Given the description of an element on the screen output the (x, y) to click on. 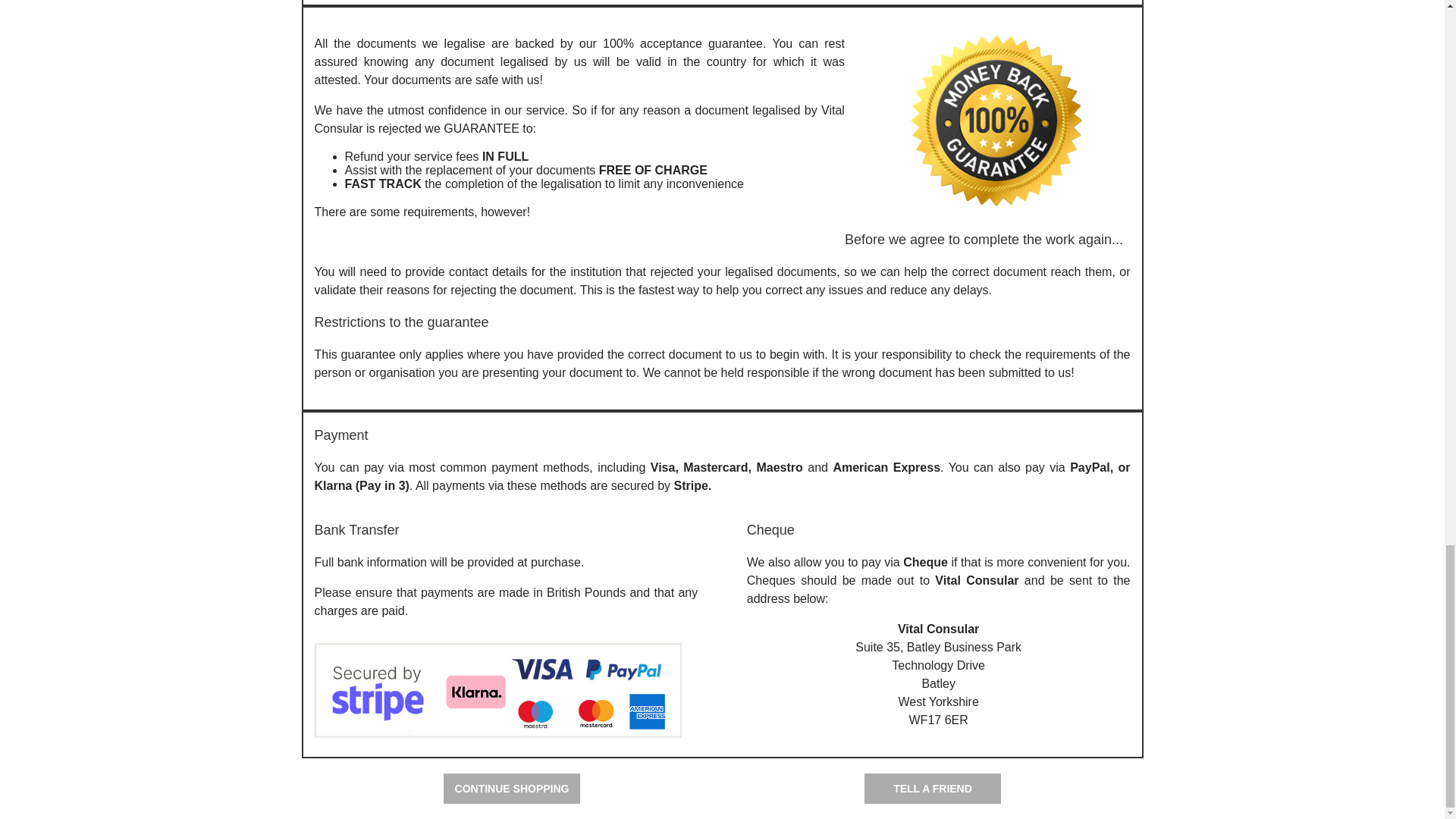
CONTINUE SHOPPING (511, 788)
TELL A FRIEND (932, 788)
